Given the description of an element on the screen output the (x, y) to click on. 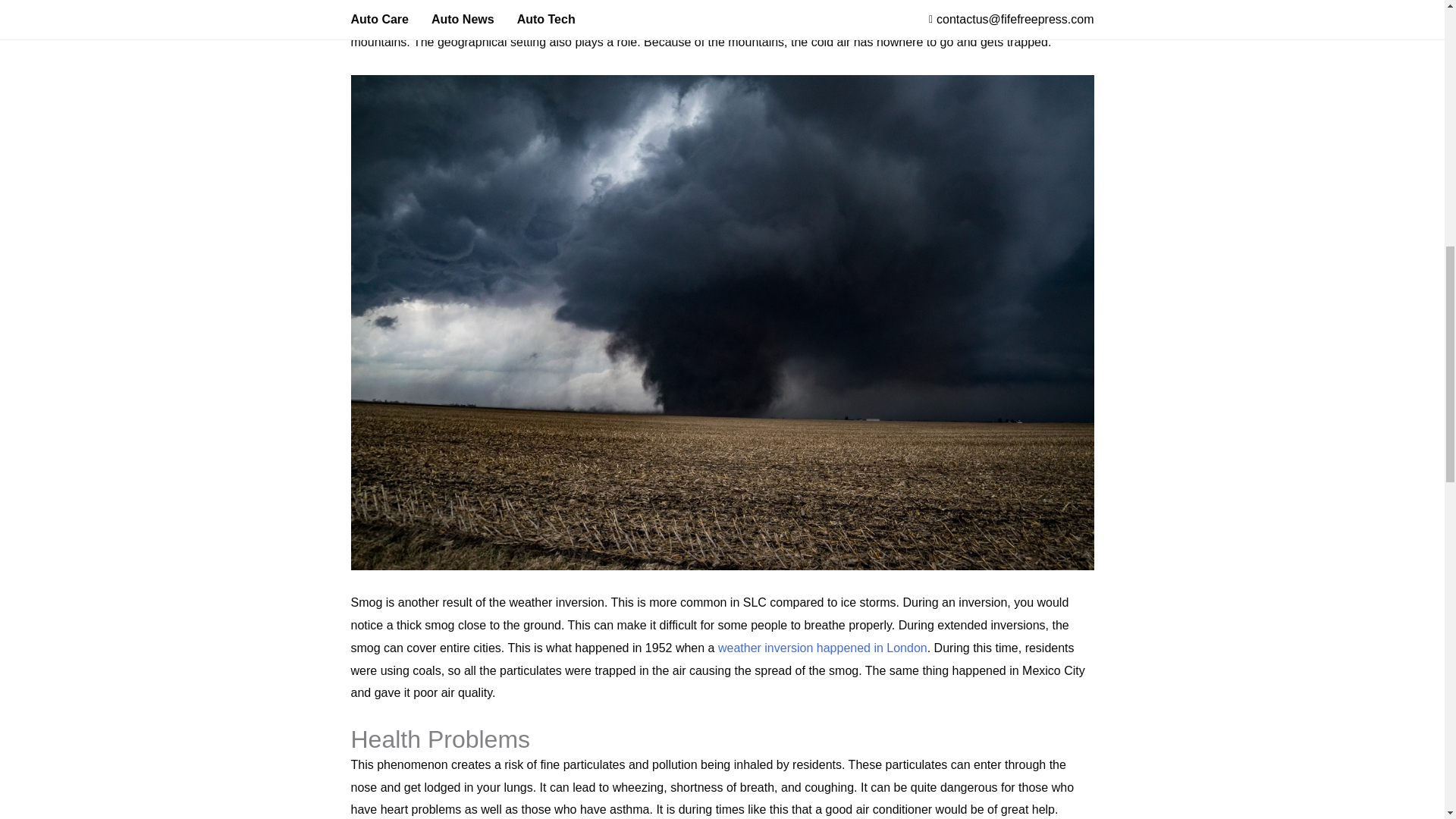
Met Office (822, 647)
weather inversion happened in London (822, 647)
